Given the description of an element on the screen output the (x, y) to click on. 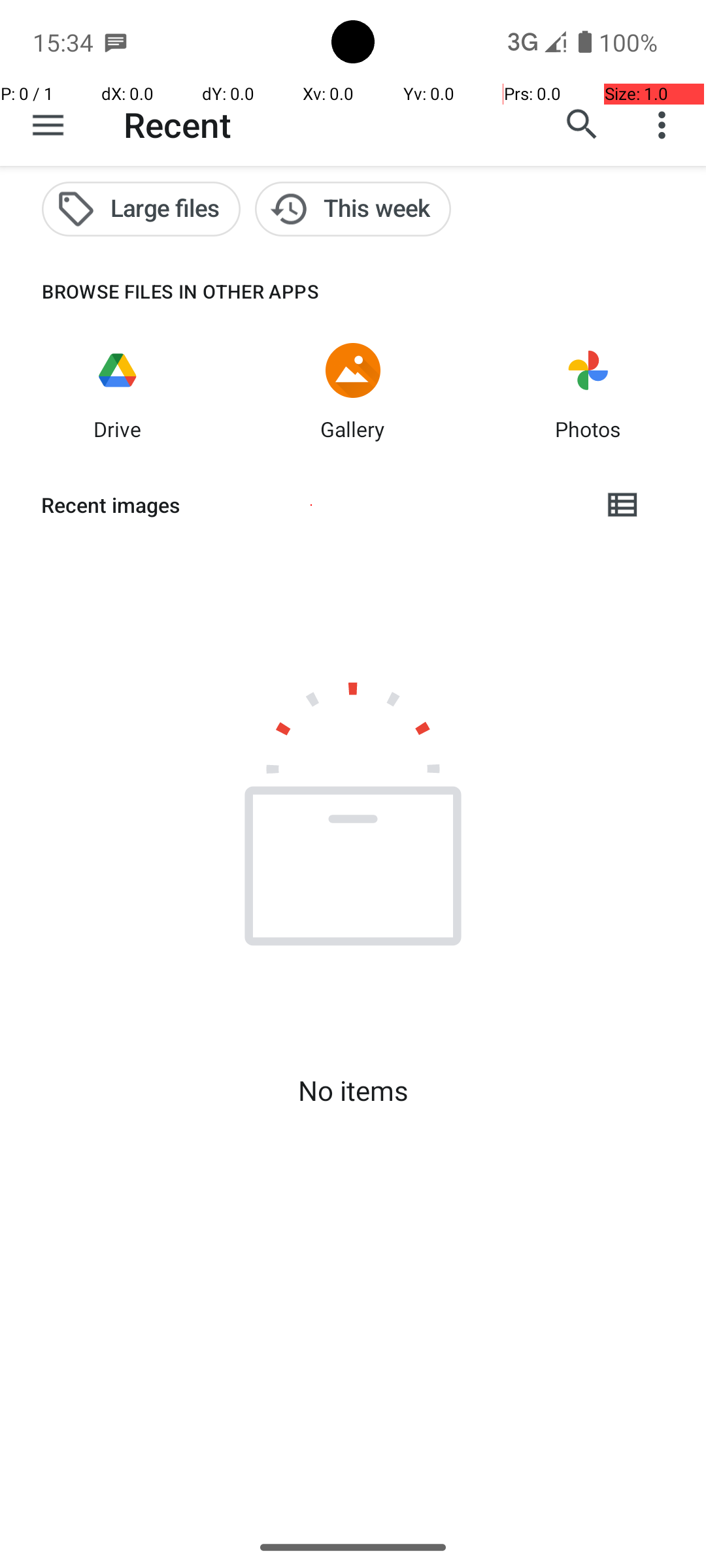
BROWSE FILES IN OTHER APPS Element type: android.widget.TextView (159, 291)
Recent images Element type: android.widget.TextView (311, 504)
Drive Element type: android.widget.TextView (117, 428)
Gallery Element type: android.widget.TextView (352, 428)
